Given the description of an element on the screen output the (x, y) to click on. 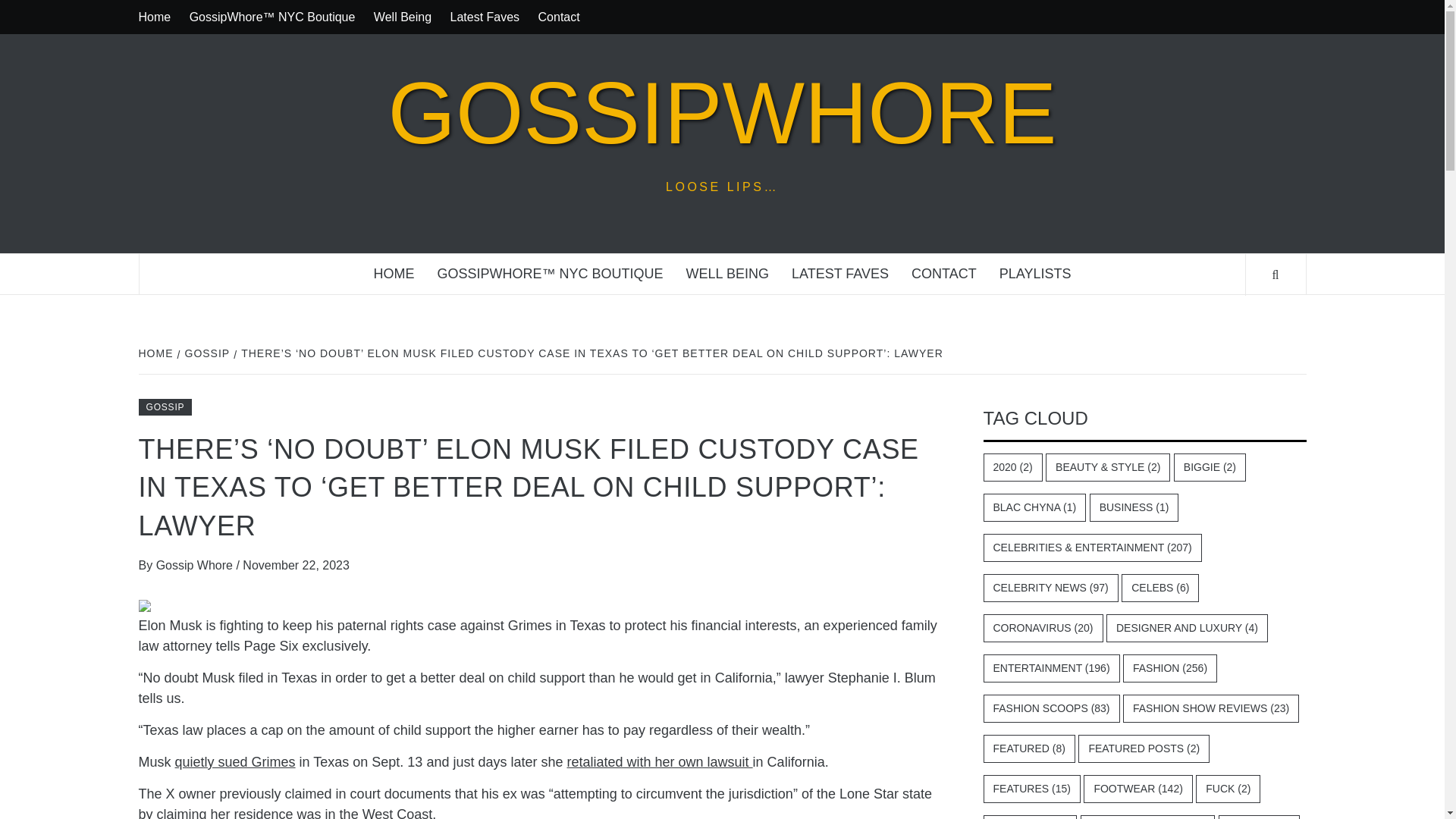
GOSSIP (205, 353)
PLAYLISTS (1035, 273)
retaliated with her own lawsuit (659, 761)
HOME (394, 273)
HOME (157, 353)
quietly sued Grimes (234, 761)
Well Being (402, 17)
LATEST FAVES (839, 273)
Gossip Whore (195, 564)
Contact (559, 17)
GOSSIPWHORE (722, 113)
CONTACT (943, 273)
GOSSIP (165, 406)
WELL BEING (727, 273)
Home (157, 17)
